Given the description of an element on the screen output the (x, y) to click on. 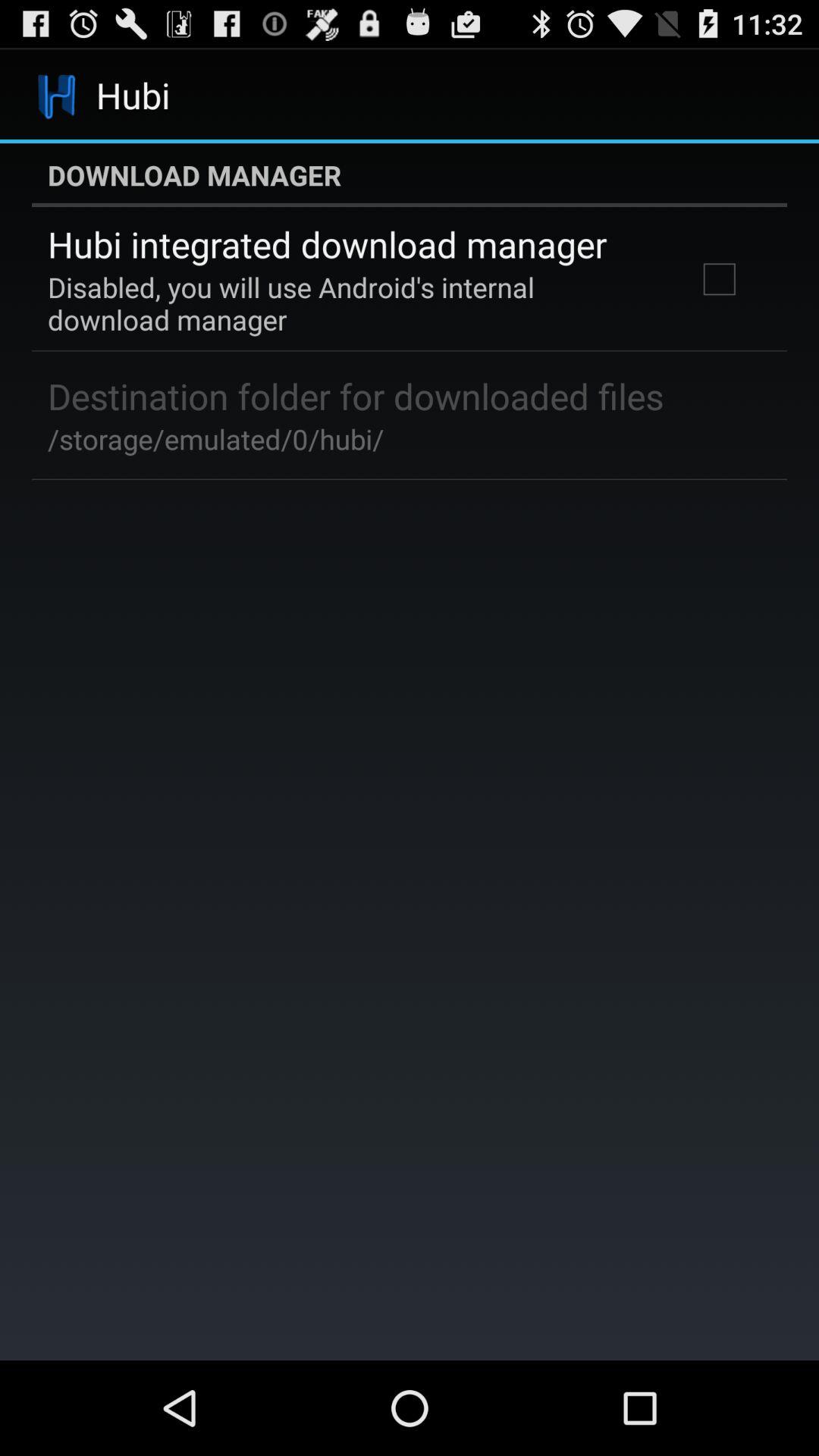
click the storage emulated 0 (215, 438)
